Given the description of an element on the screen output the (x, y) to click on. 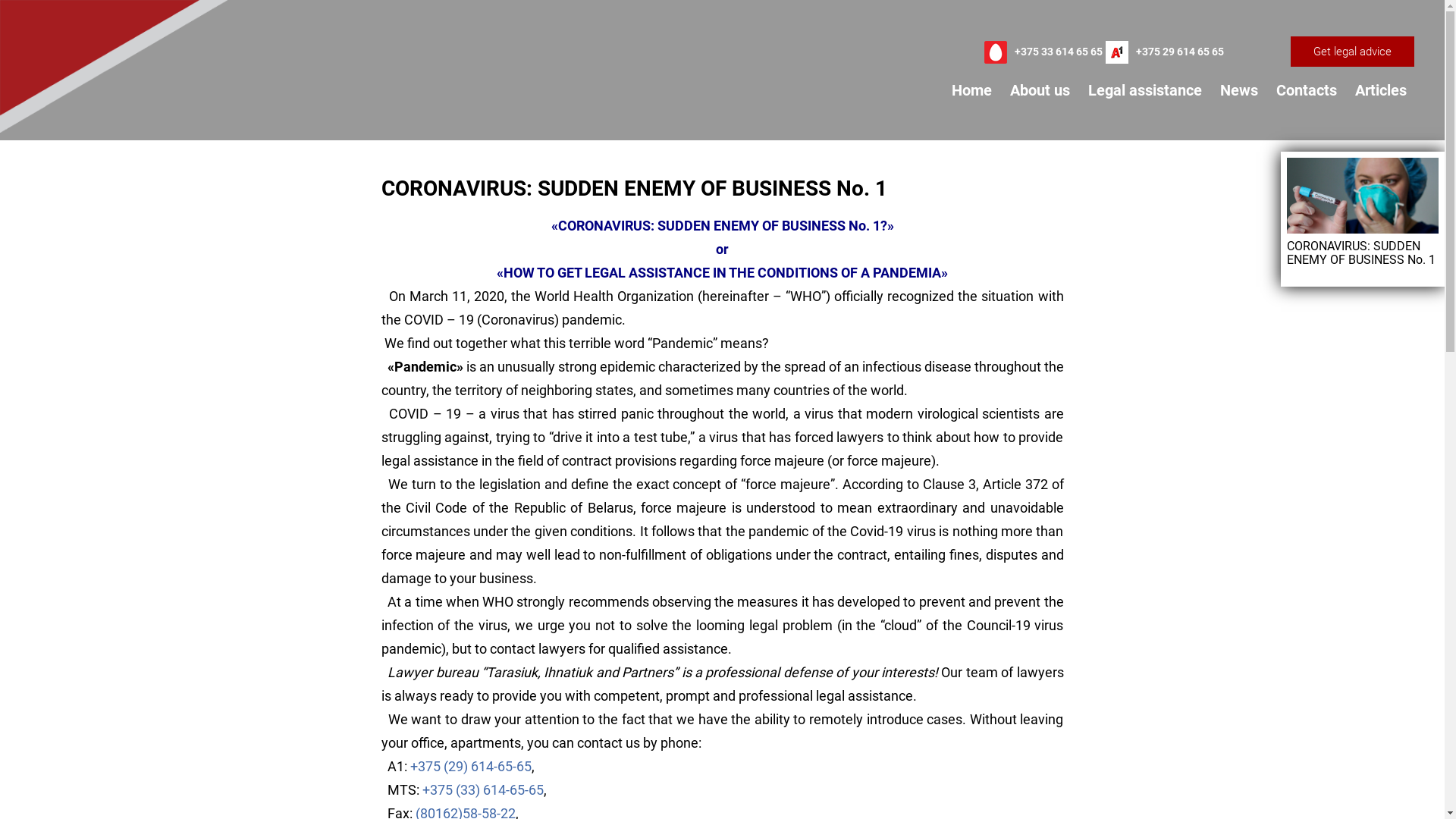
+375 (33) 614-65-65 Element type: text (481, 789)
Home Element type: text (971, 90)
+375 (29) 614-65-65 Element type: text (469, 766)
Legal assistance Element type: text (1144, 90)
News Element type: text (1239, 90)
Contacts Element type: text (1306, 90)
CORONAVIRUS: SUDDEN ENEMY OF BUSINESS No. 1 Element type: text (1362, 211)
Articles Element type: text (1380, 90)
Get legal advice Element type: text (1352, 51)
+375 33 614 65 65 Element type: text (1058, 51)
+375 29 614 65 65 Element type: text (1179, 51)
About us Element type: text (1040, 90)
